Given the description of an element on the screen output the (x, y) to click on. 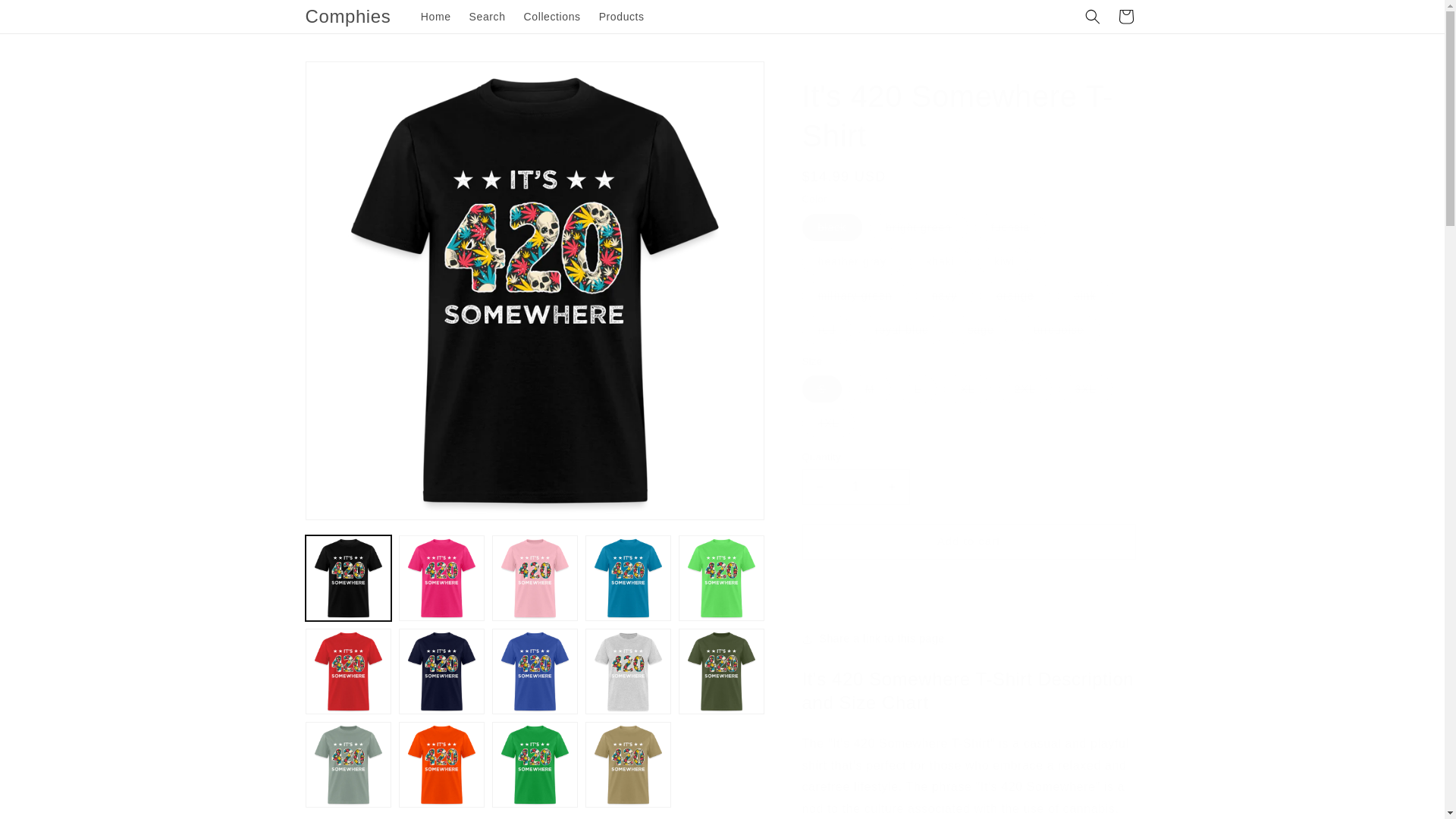
Skip to product information (350, 78)
Home (436, 16)
